Given the description of an element on the screen output the (x, y) to click on. 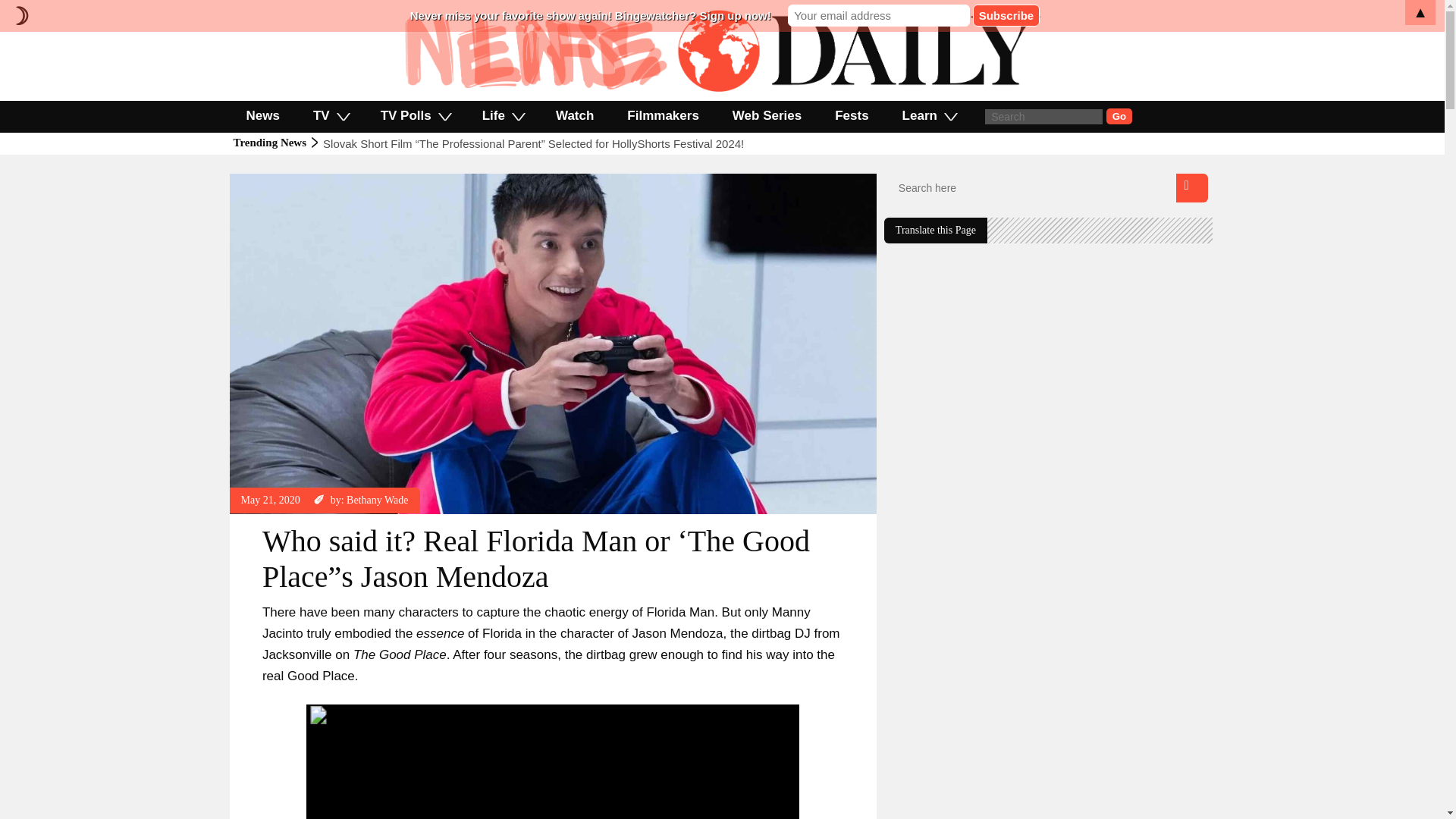
Fact check: was there a blackout at the Paris Olympics? (464, 143)
News (261, 115)
TV (330, 115)
Watch (574, 115)
Life (501, 115)
Learn (928, 115)
Web Series (767, 115)
Quizzes (258, 180)
Go (1119, 116)
Fests (851, 115)
Filmmakers (663, 115)
Go (1119, 116)
May 21, 2020 (270, 500)
TV Polls (414, 115)
Go (1119, 116)
